Given the description of an element on the screen output the (x, y) to click on. 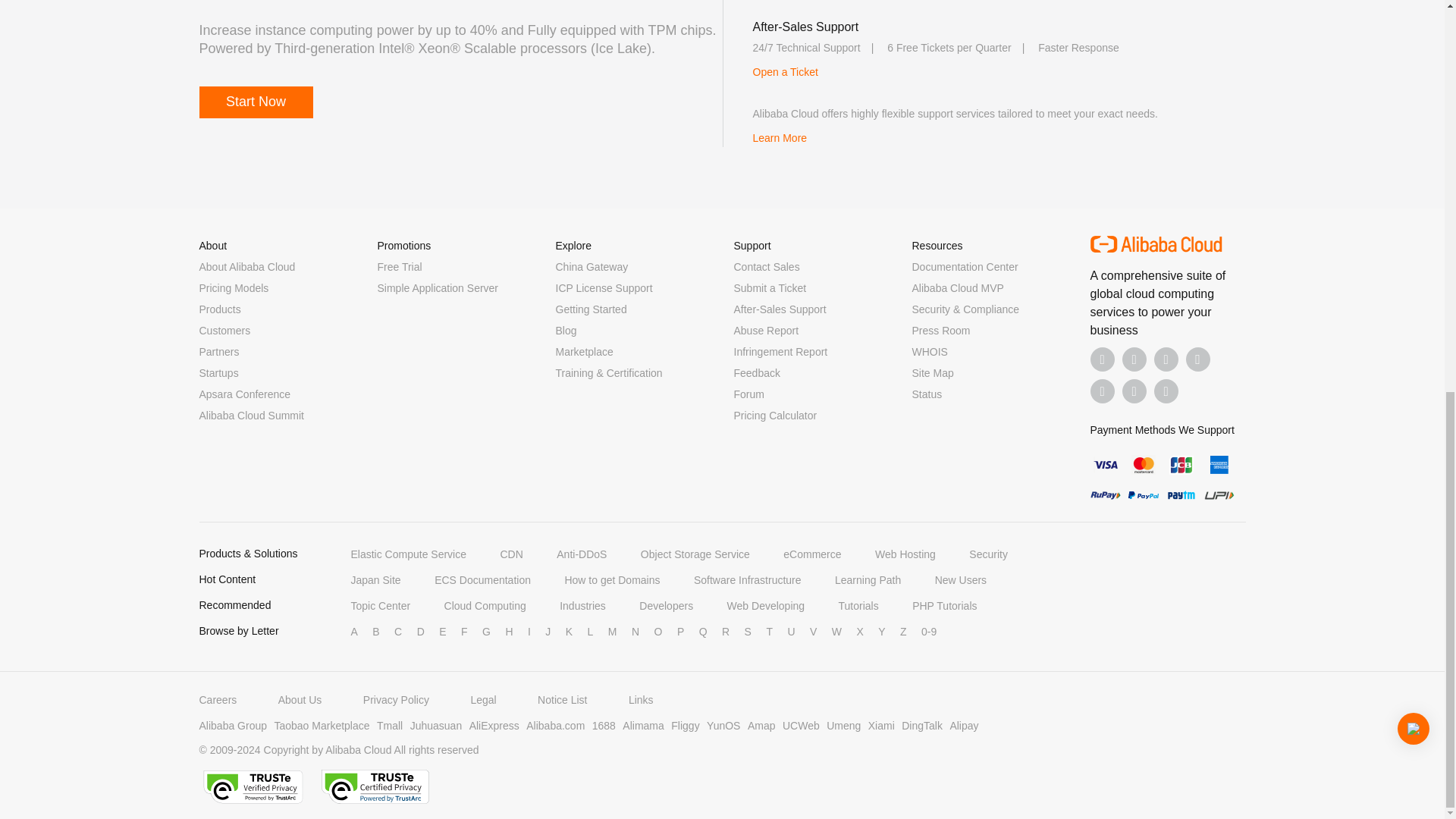
TikTok (1102, 391)
Facebook (1102, 359)
Linkedin (1134, 359)
Twitter (1165, 359)
YouTube (1197, 359)
Call Us Now (1165, 391)
